Given the description of an element on the screen output the (x, y) to click on. 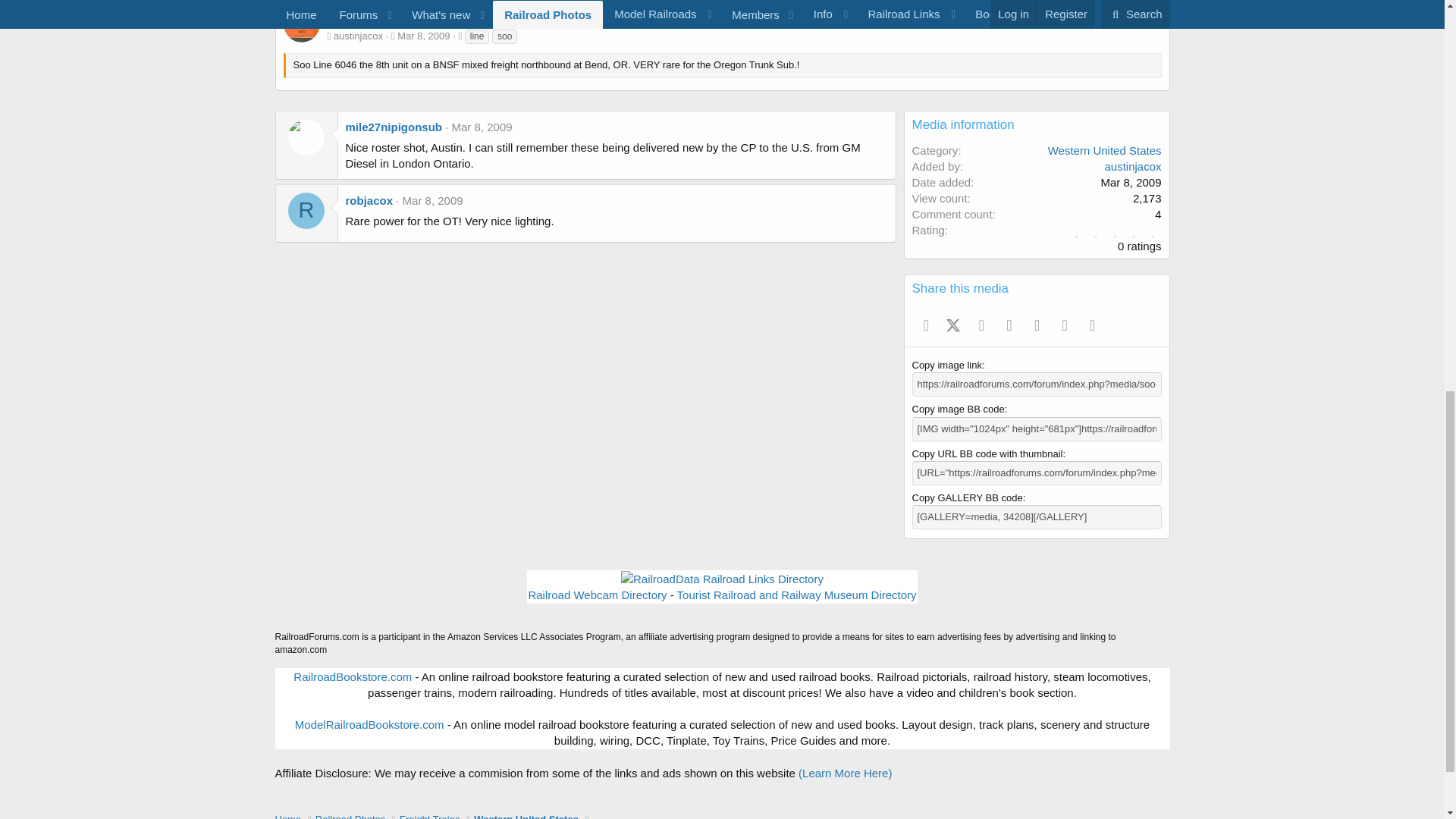
Media owner (329, 35)
Mar 8, 2009 at 6:38 PM (423, 35)
Mar 8, 2009 at 8:11 PM (481, 126)
Mar 8, 2009 at 6:38 PM (1130, 182)
Mar 8, 2009 at 9:46 PM (433, 200)
